Given the description of an element on the screen output the (x, y) to click on. 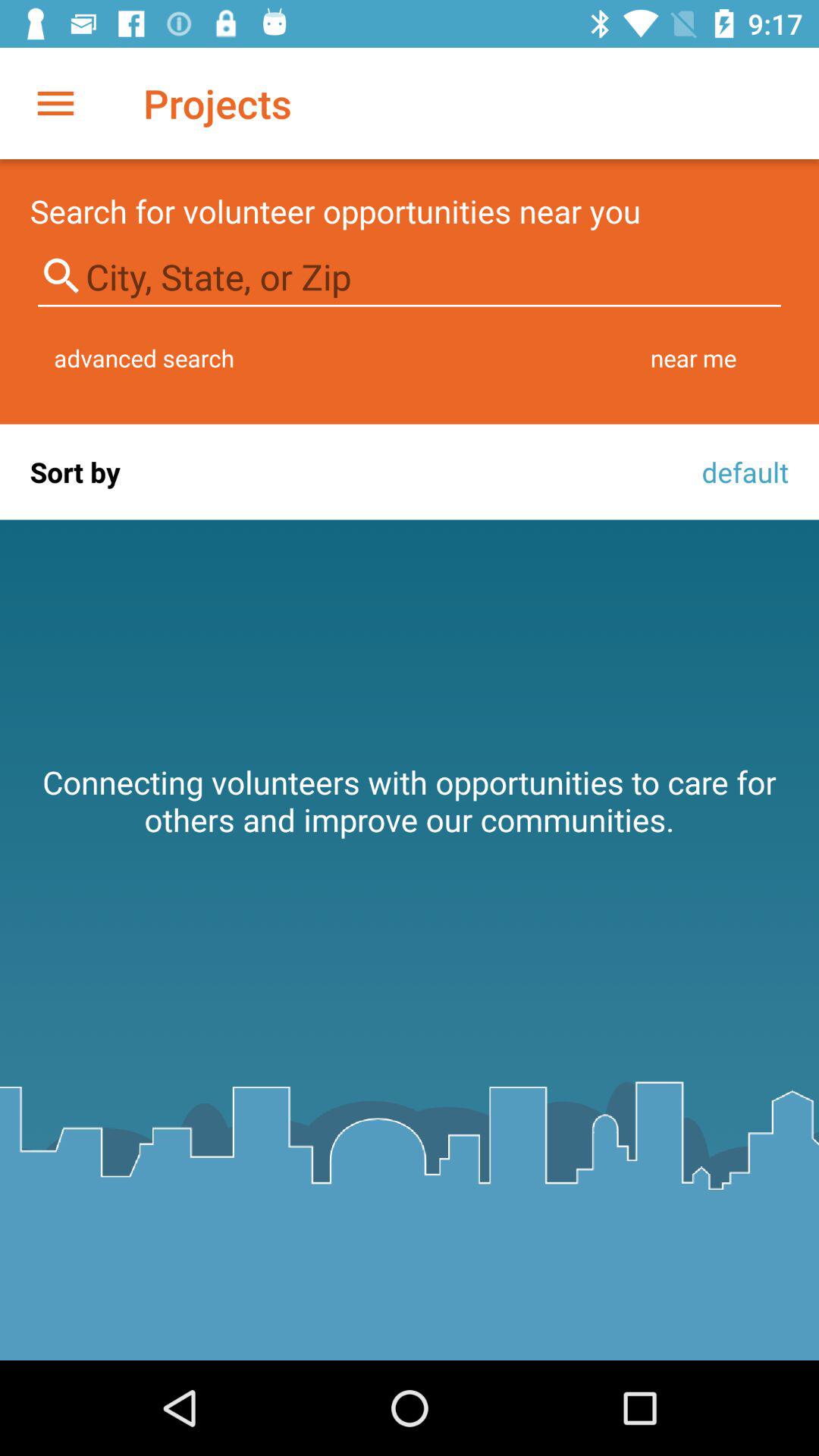
open item above the sort by icon (144, 358)
